Given the description of an element on the screen output the (x, y) to click on. 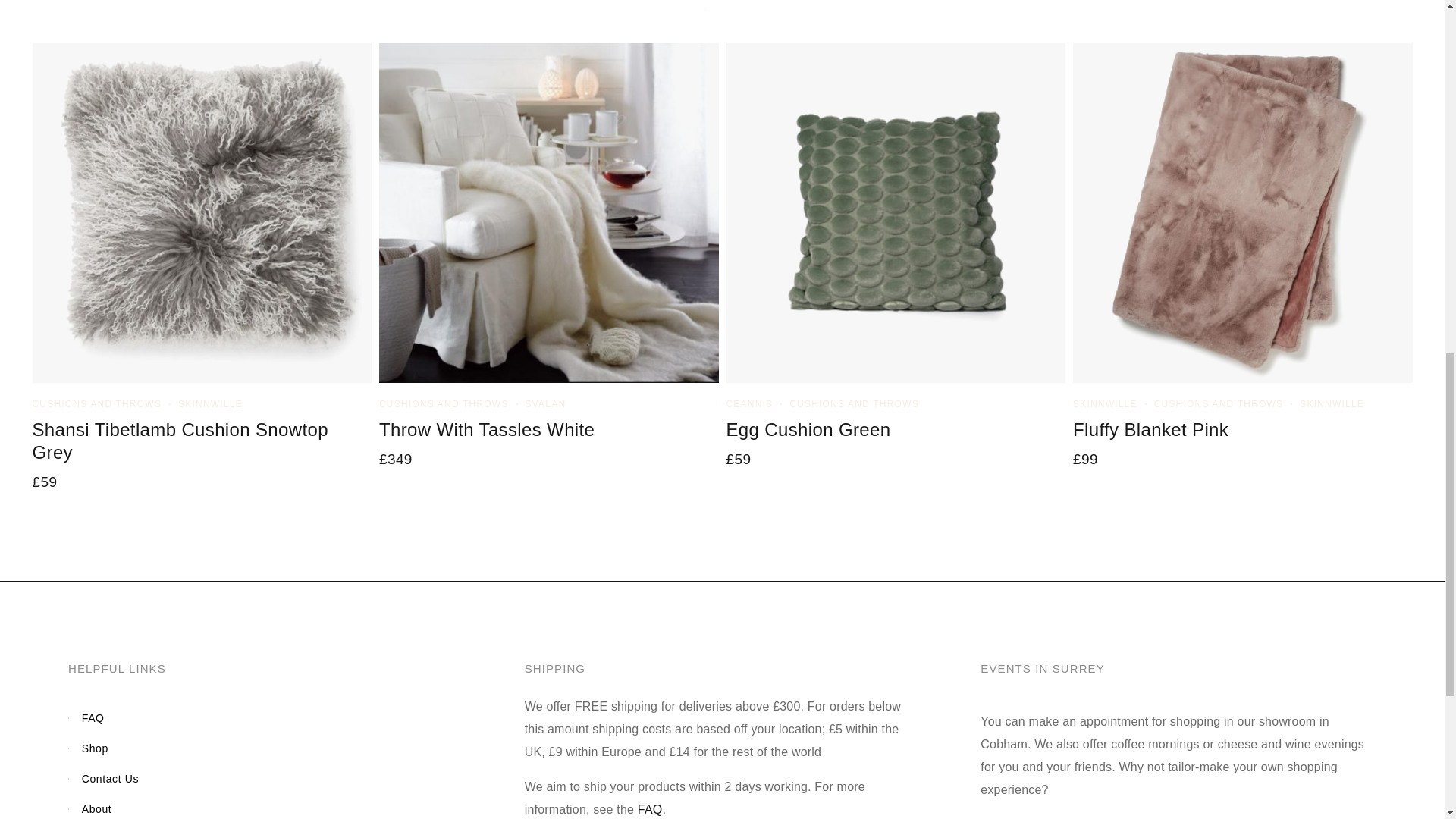
View all posts in Skinnwille (210, 403)
View all posts in Ceannis (749, 403)
View all posts in Skinnwille (1105, 403)
View all posts in Cushions and throws (443, 403)
View all posts in Svalan (545, 403)
View all posts in Cushions and throws (96, 403)
View all posts in Cushions and throws (853, 403)
